Given the description of an element on the screen output the (x, y) to click on. 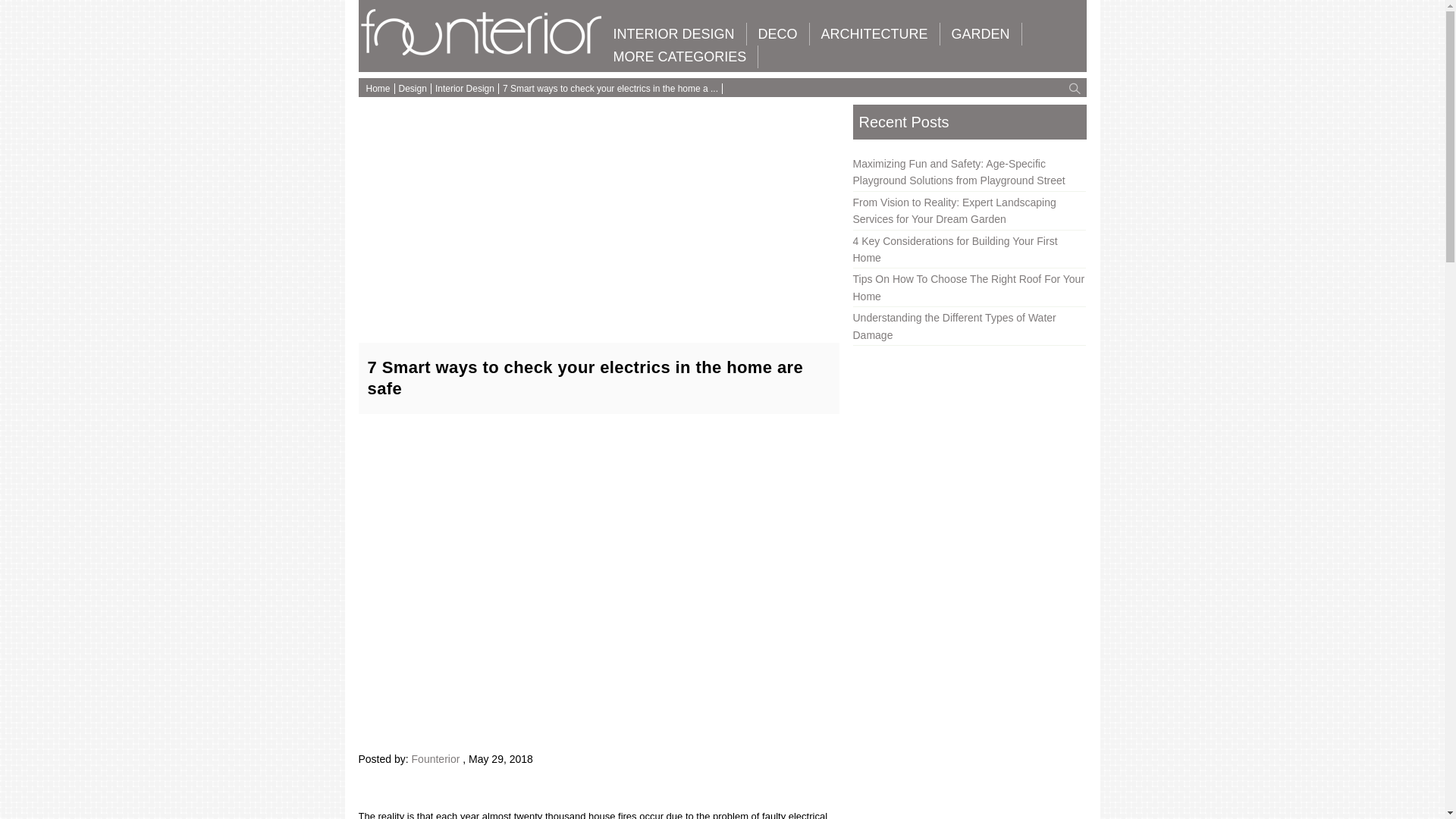
Interior Design (673, 33)
Architecture (874, 33)
GARDEN (981, 33)
INTERIOR DESIGN (673, 33)
DECO (777, 33)
MORE CATEGORIES (680, 56)
ARCHITECTURE (874, 33)
Founterior (481, 51)
Decoration (777, 33)
